Given the description of an element on the screen output the (x, y) to click on. 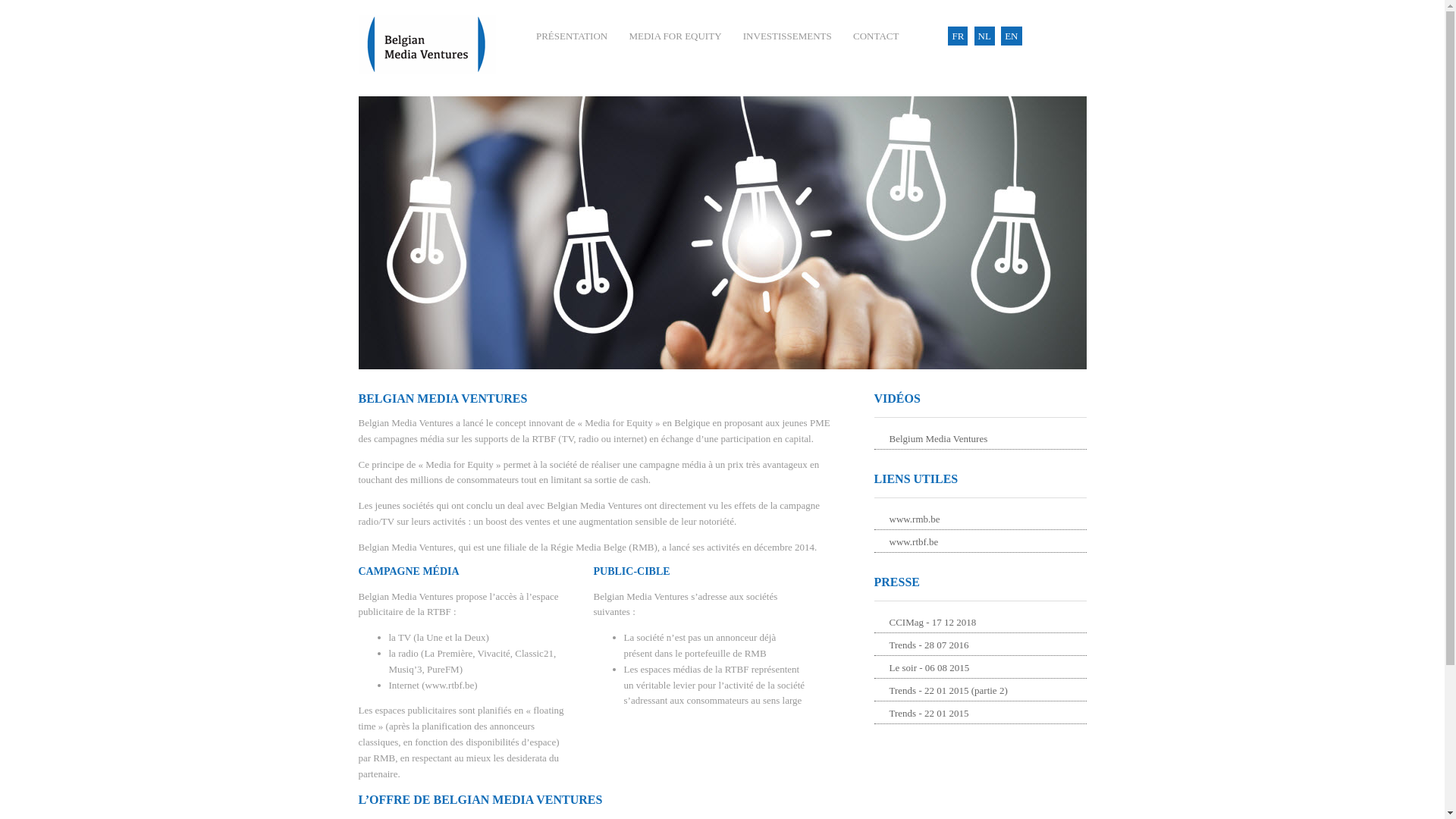
Trends - 22 01 2015 (partie 2) Element type: text (979, 690)
MEDIA FOR EQUITY Element type: text (674, 35)
Trends - 22 01 2015 Element type: text (979, 713)
CONTACT Element type: text (875, 35)
NL Element type: text (984, 35)
INVESTISSEMENTS Element type: text (787, 35)
EN Element type: text (1010, 35)
FR Element type: text (957, 35)
www.rtbf.be Element type: text (979, 542)
CCIMag - 17 12 2018 Element type: text (979, 622)
www.rmb.be Element type: text (979, 519)
Trends - 28 07 2016 Element type: text (979, 645)
Le soir - 06 08 2015 Element type: text (979, 668)
Belgium Media Ventures Element type: text (979, 439)
